Given the description of an element on the screen output the (x, y) to click on. 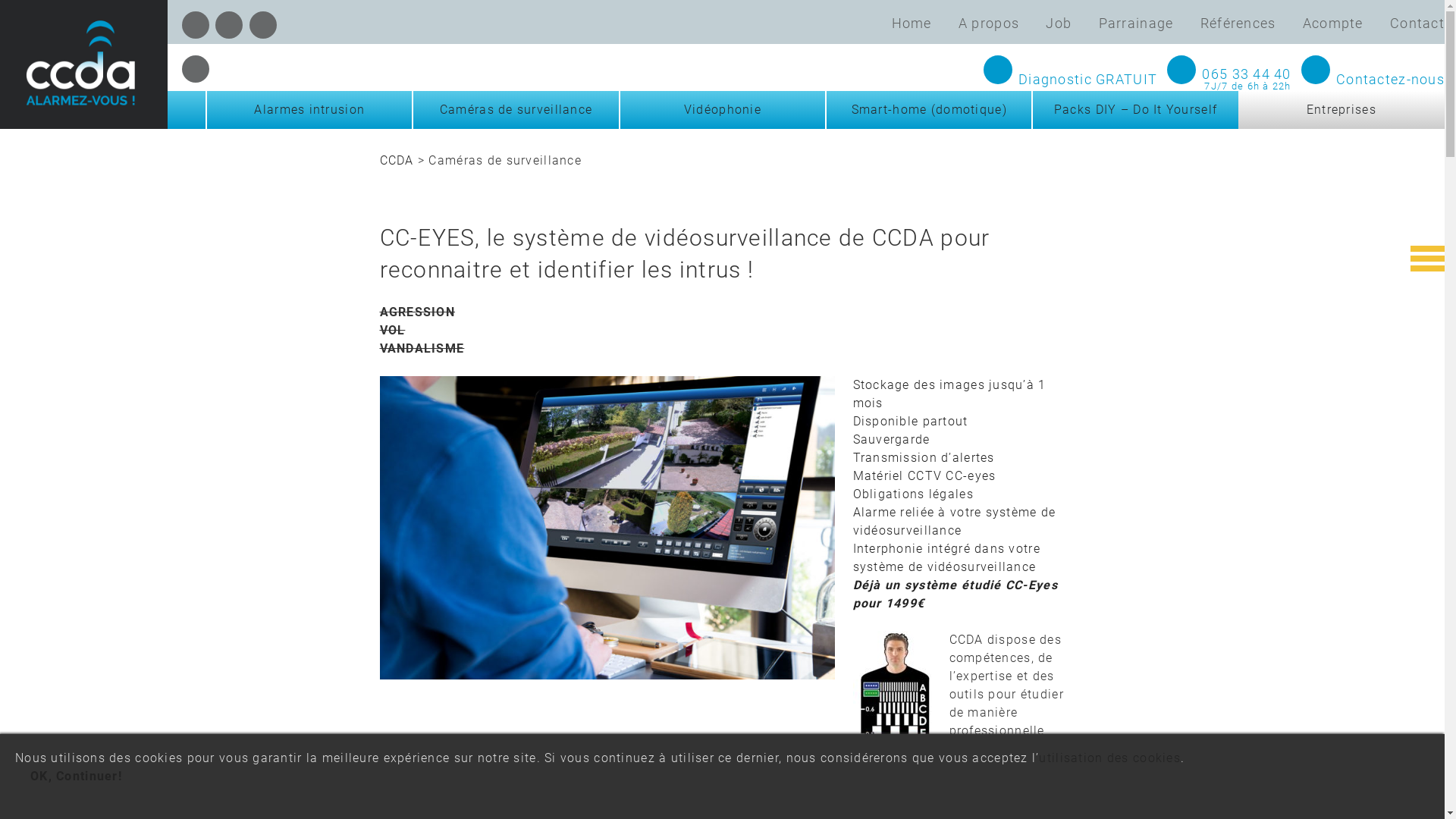
CCDA Element type: text (396, 160)
OK, Continuer! Element type: text (76, 775)
Sauvergarde Element type: text (890, 439)
Alarmes intrusion Element type: text (308, 109)
Job Element type: text (1058, 23)
Entreprises Element type: text (1341, 109)
A propos Element type: text (988, 23)
Contact Element type: text (1417, 23)
Parrainage Element type: text (1135, 23)
Contactez-nous Element type: text (1369, 79)
Diagnostic GRATUIT Element type: text (1067, 79)
Aller au contenu principal Element type: text (0, 0)
Smart-home (domotique) Element type: text (928, 109)
utilisation des cookies Element type: text (1108, 757)
Acompte Element type: text (1332, 23)
Disponible partout Element type: text (909, 421)
Home Element type: text (911, 23)
